Given the description of an element on the screen output the (x, y) to click on. 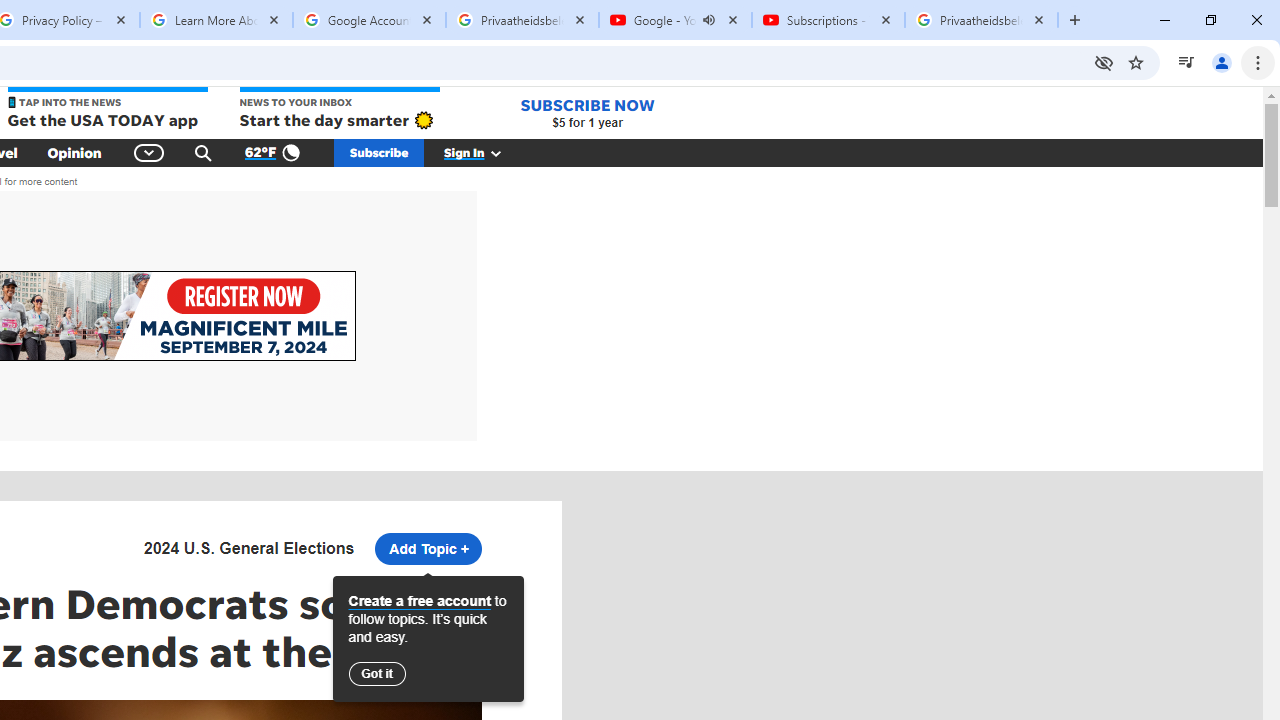
SUBSCRIBE NOW $5 for 1 year (587, 112)
Restore (1210, 20)
Search (203, 152)
Chrome (1260, 62)
Add Topic (427, 548)
Google Account (369, 20)
Subscribe (379, 152)
Google - YouTube - Audio playing (675, 20)
Opinion (74, 152)
New Tab (1075, 20)
Bookmark this tab (1135, 62)
